Given the description of an element on the screen output the (x, y) to click on. 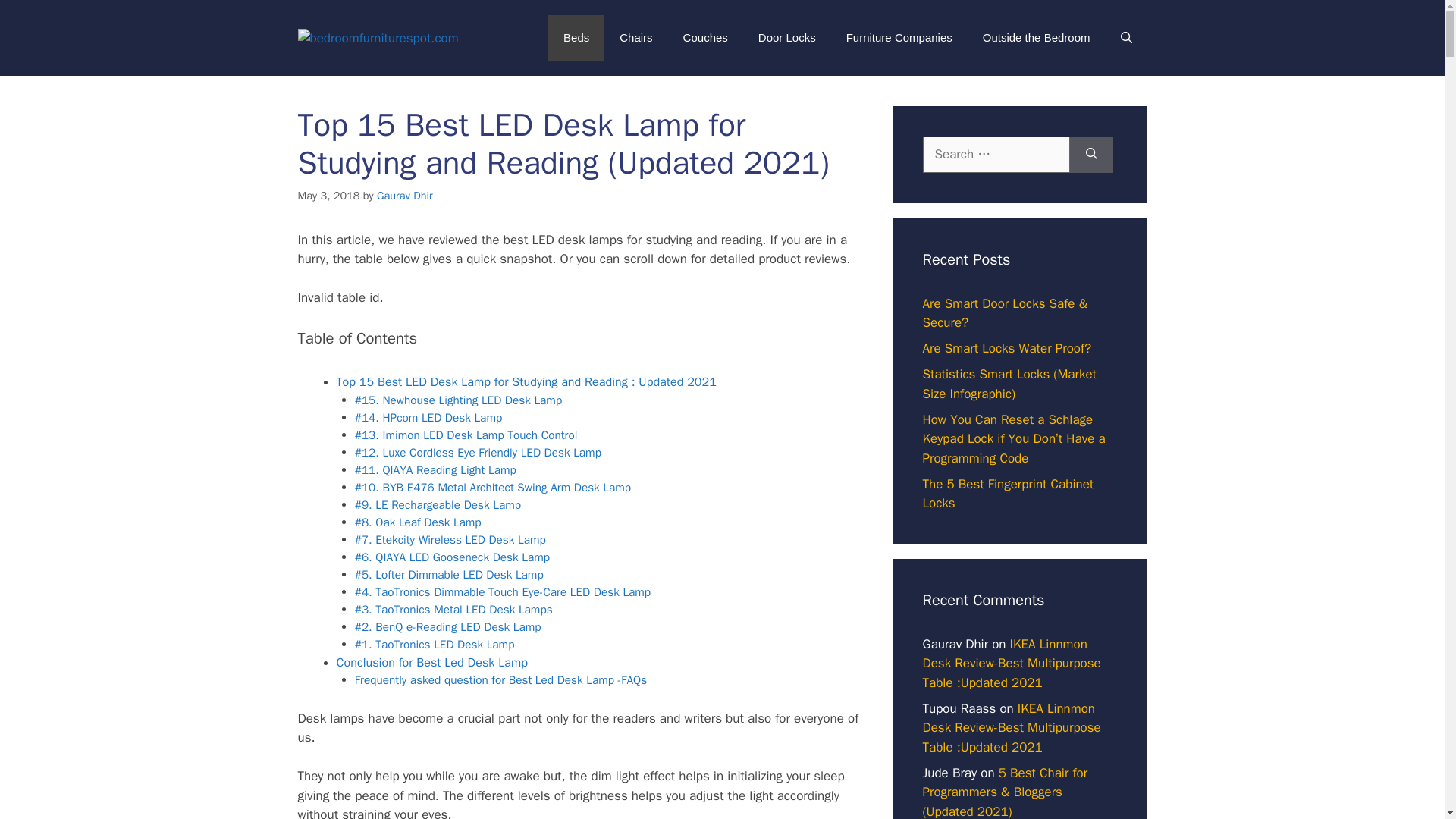
Gaurav Dhir (404, 195)
Chairs (635, 37)
Door Locks (786, 37)
Conclusion for Best Led Desk Lamp (431, 662)
Beds (576, 37)
Outside the Bedroom (1036, 37)
bedroomfurniturespot.com (377, 37)
Furniture Companies (899, 37)
Couches (705, 37)
View all posts by Gaurav Dhir (404, 195)
Frequently asked question for Best Led Desk Lamp -FAQs (500, 679)
bedroomfurniturespot.com (377, 38)
